Given the description of an element on the screen output the (x, y) to click on. 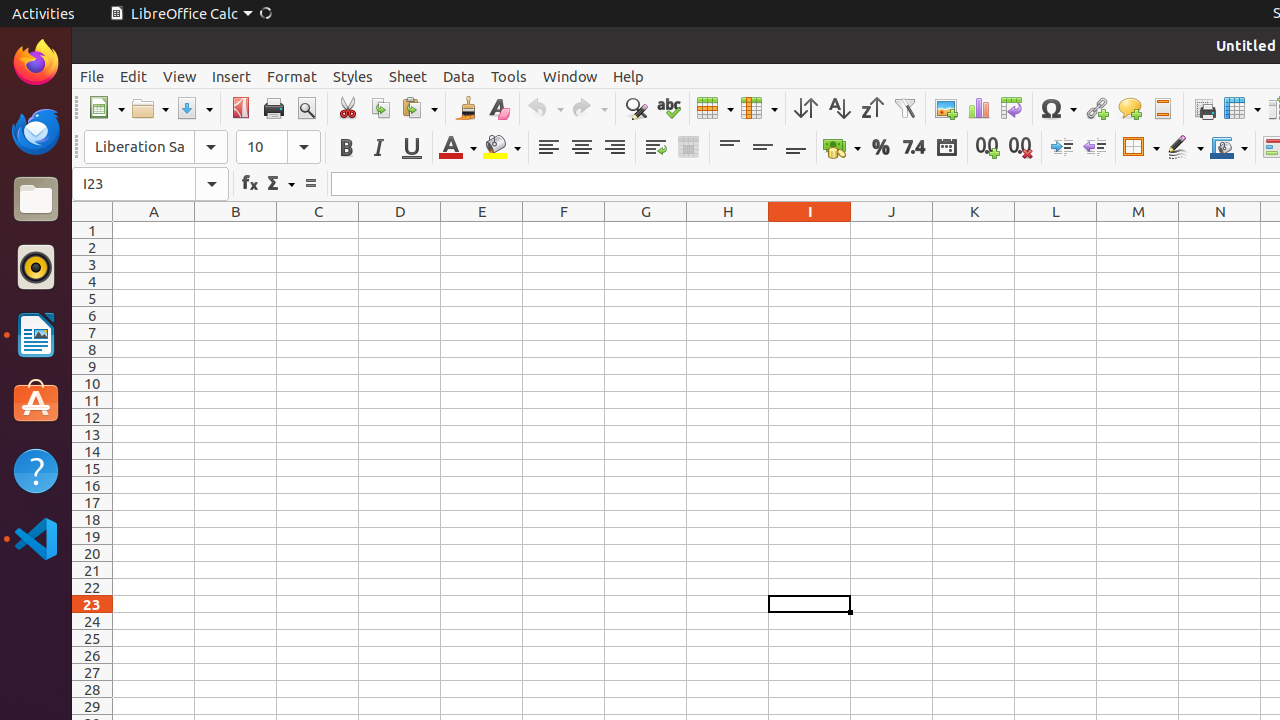
Align Left Element type: push-button (548, 147)
Chart Element type: push-button (978, 108)
Date Element type: push-button (946, 147)
Find & Replace Element type: toggle-button (635, 108)
Format Element type: menu (292, 76)
